Given the description of an element on the screen output the (x, y) to click on. 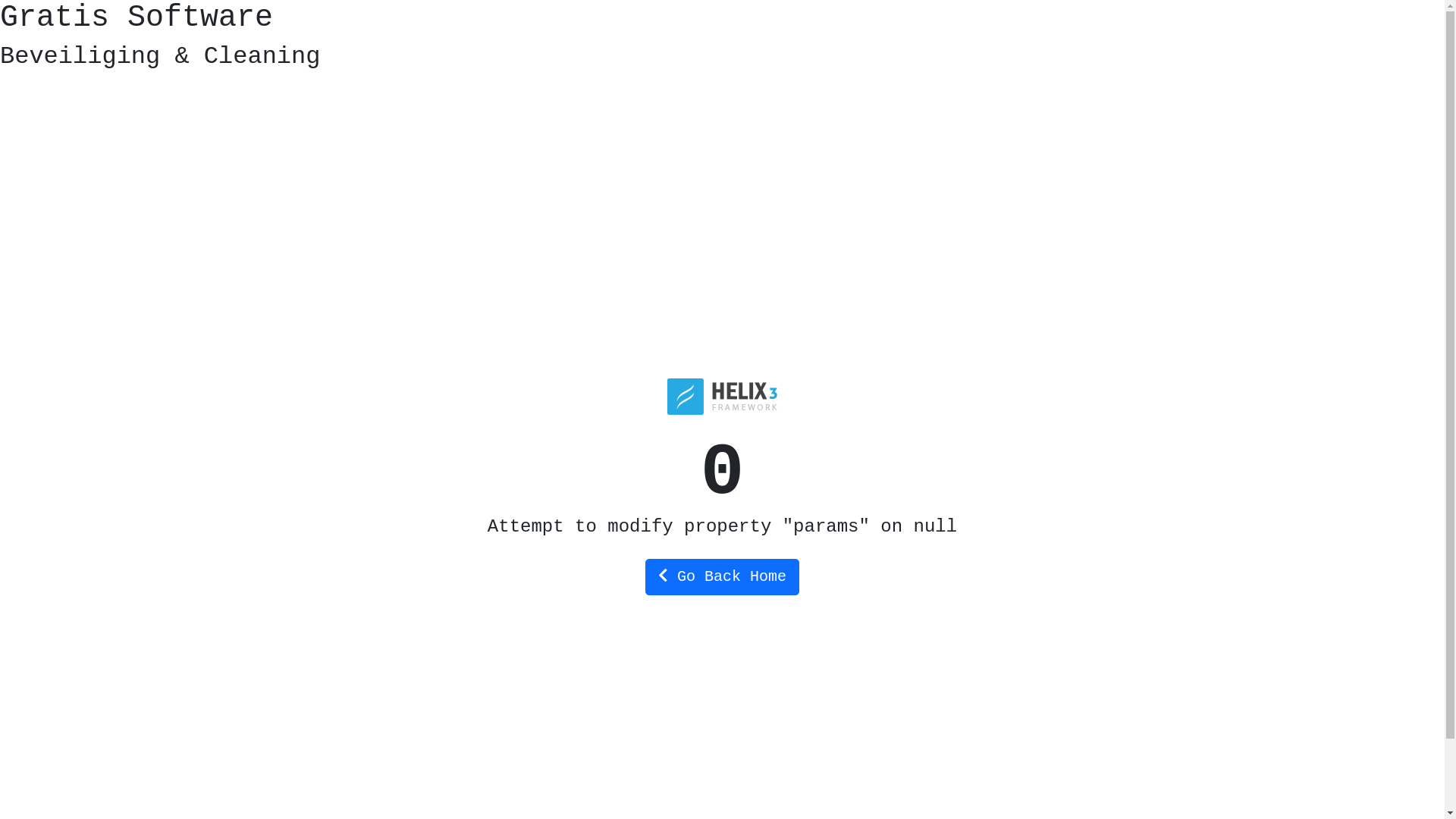
Go Back Home Element type: text (722, 576)
